Given the description of an element on the screen output the (x, y) to click on. 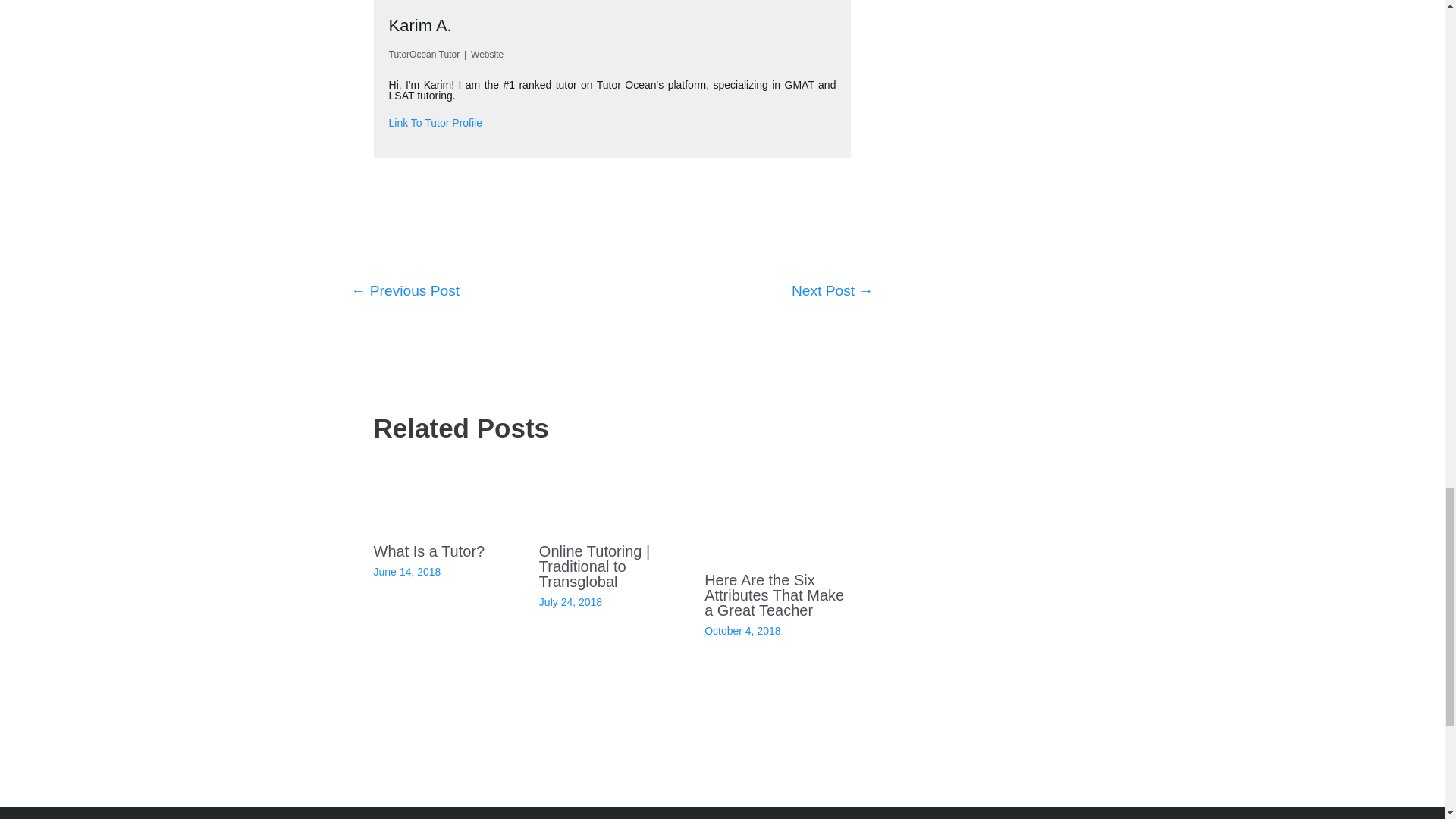
Link To Tutor Profile (434, 122)
Here Are the Six Attributes That Make a Great Teacher (774, 595)
What Is a Tutor? (429, 550)
Website (486, 54)
